Given the description of an element on the screen output the (x, y) to click on. 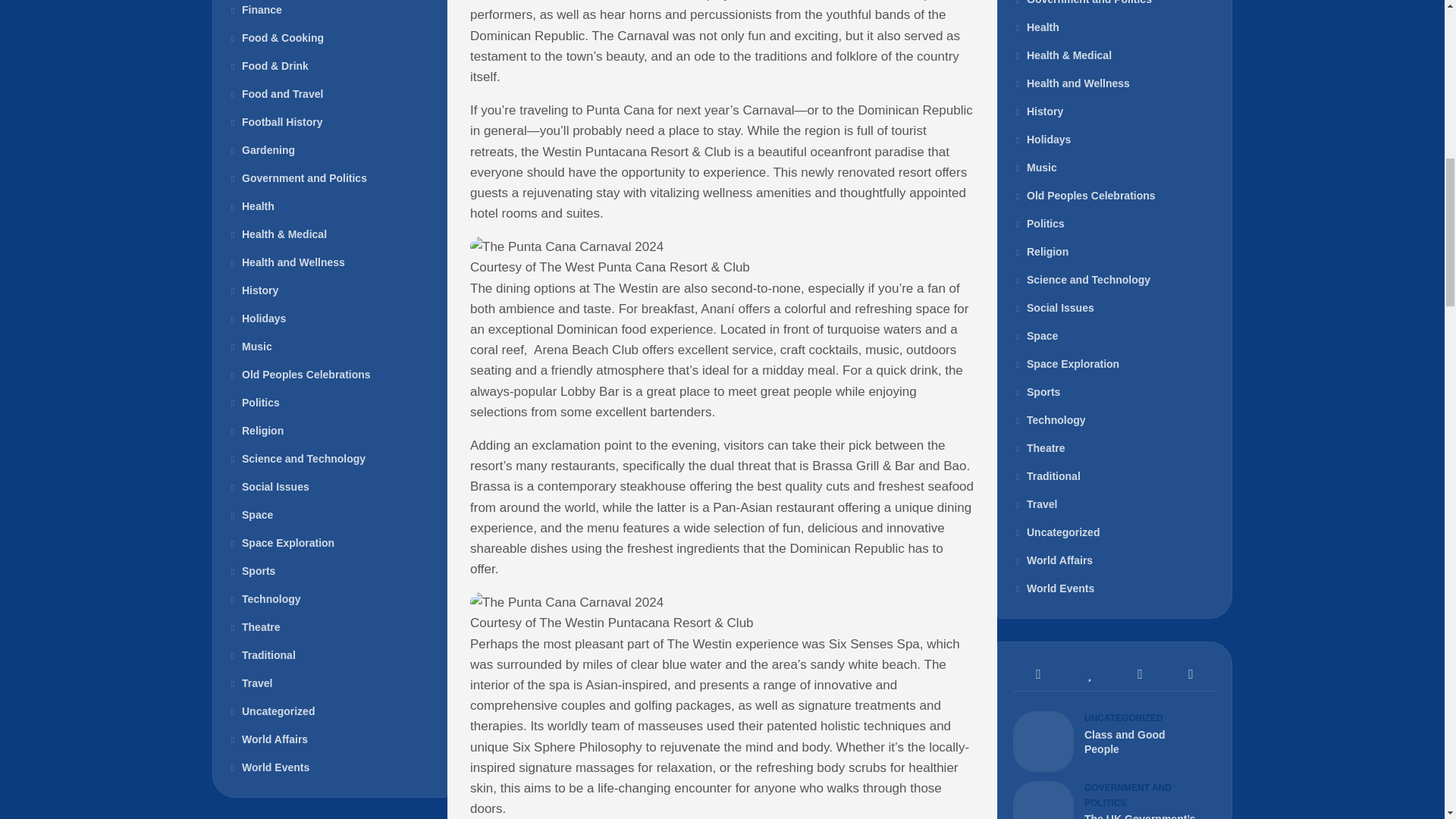
Recent Posts (1038, 674)
Popular Posts (1089, 674)
